Given the description of an element on the screen output the (x, y) to click on. 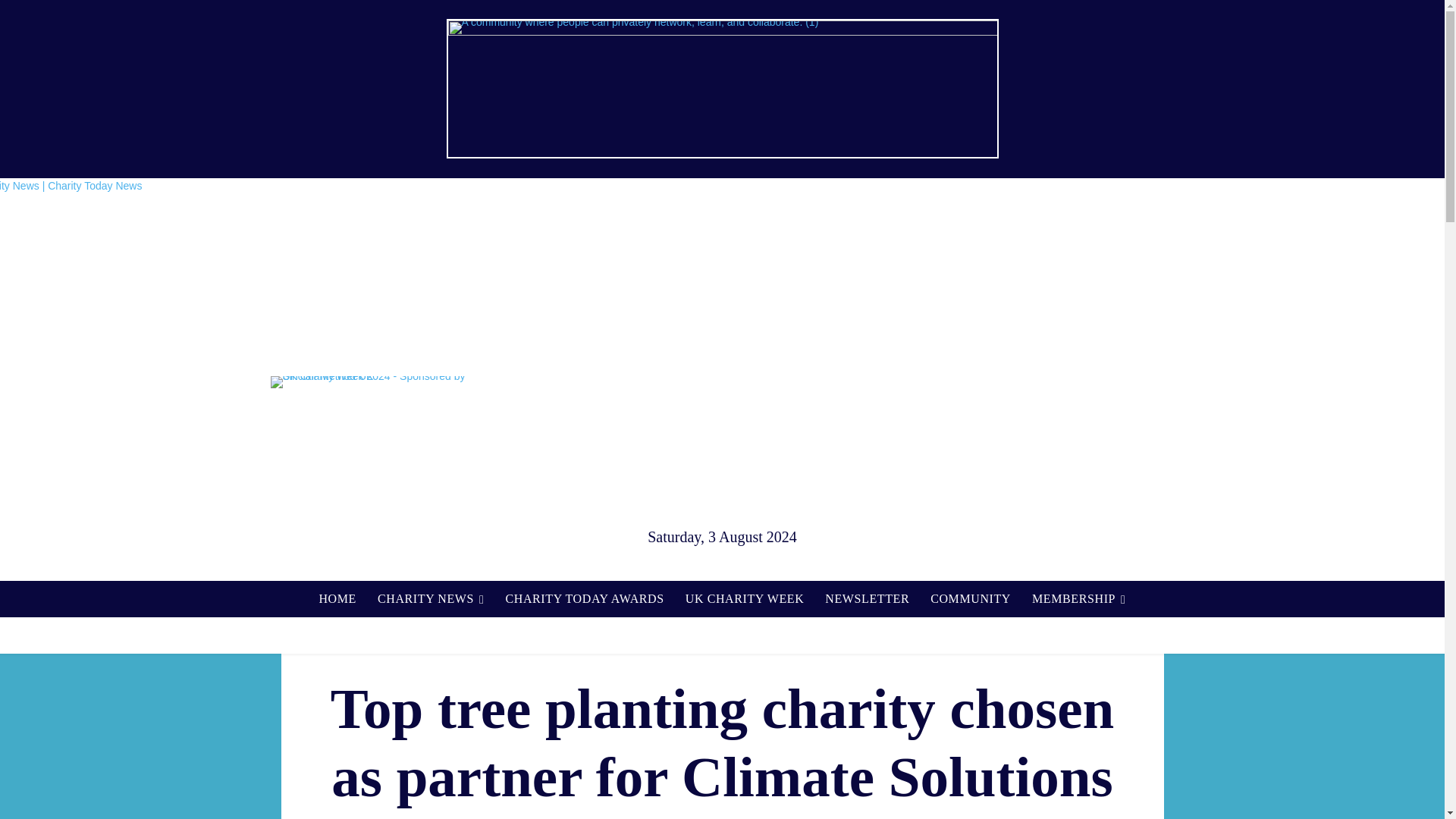
CHARITY NEWS (430, 598)
HOME (336, 598)
Charity Today Awards logo (1064, 382)
